Given the description of an element on the screen output the (x, y) to click on. 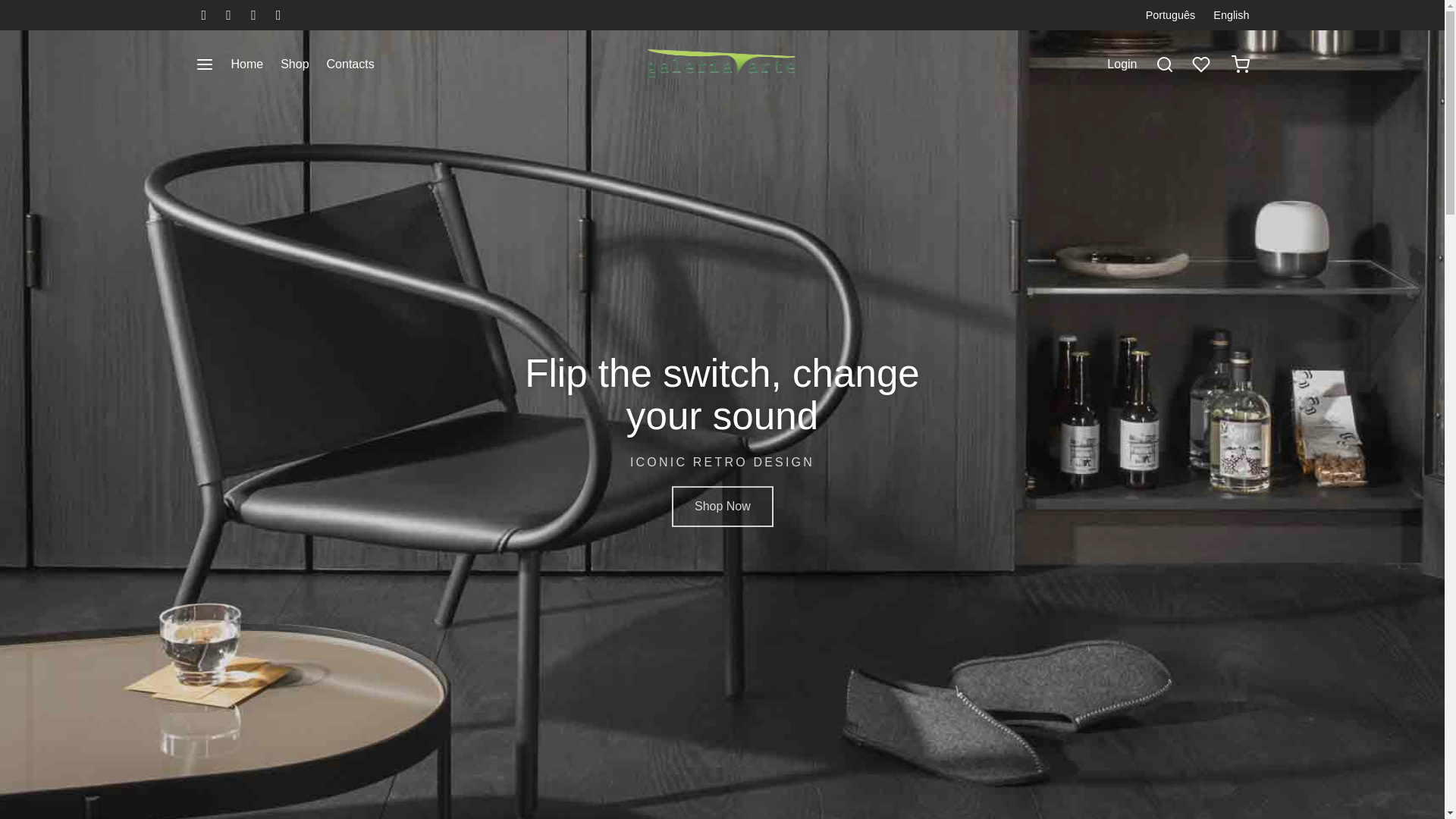
Shop Now (722, 506)
Contacts (350, 64)
Shop (294, 64)
English (1227, 14)
Login (1121, 64)
Home (246, 64)
Cart (1240, 64)
